Given the description of an element on the screen output the (x, y) to click on. 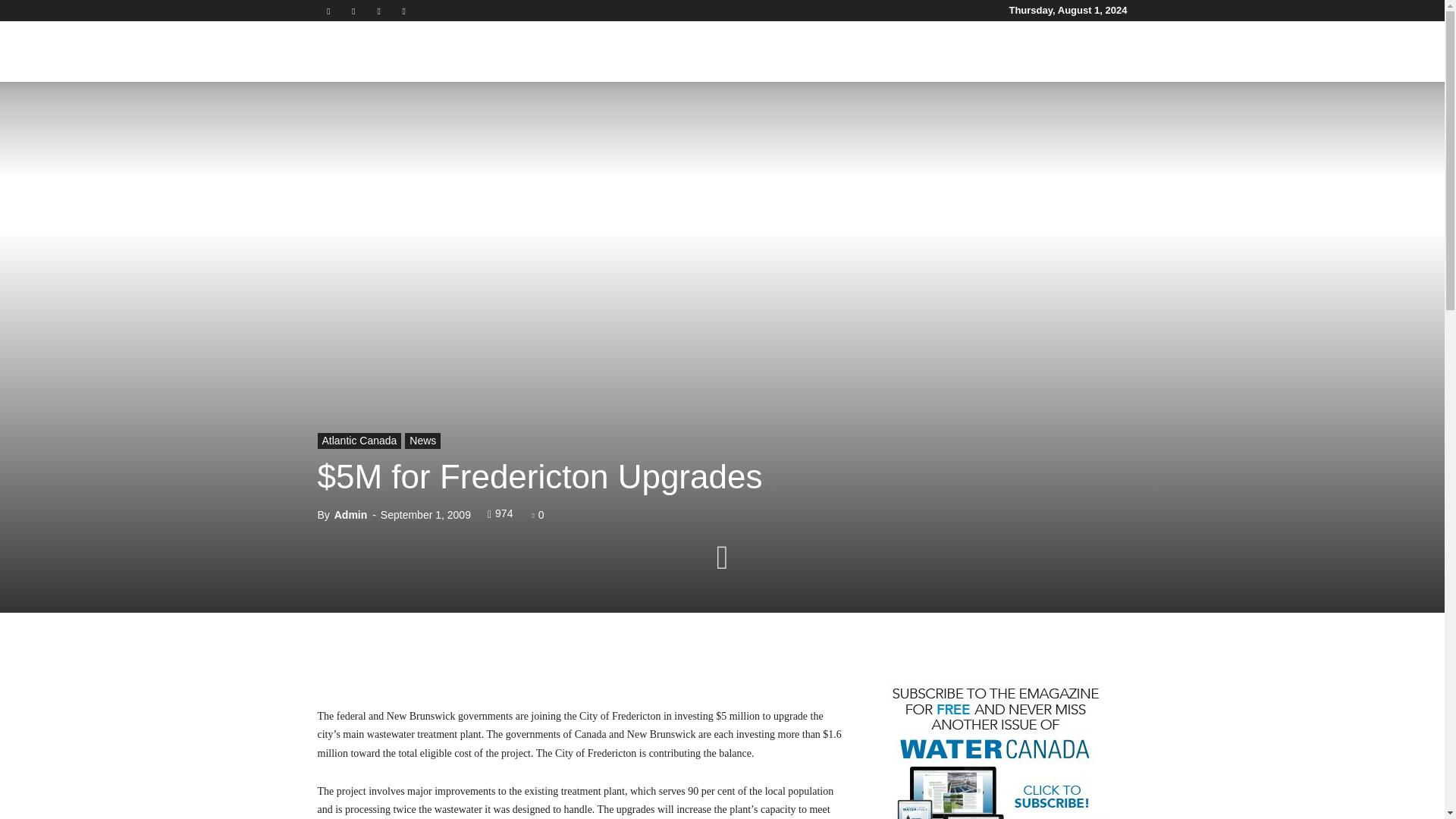
Facebook (328, 10)
Twitter (379, 10)
Water Canada (401, 51)
Youtube (403, 10)
Linkedin (353, 10)
Search (1085, 124)
